Given the description of an element on the screen output the (x, y) to click on. 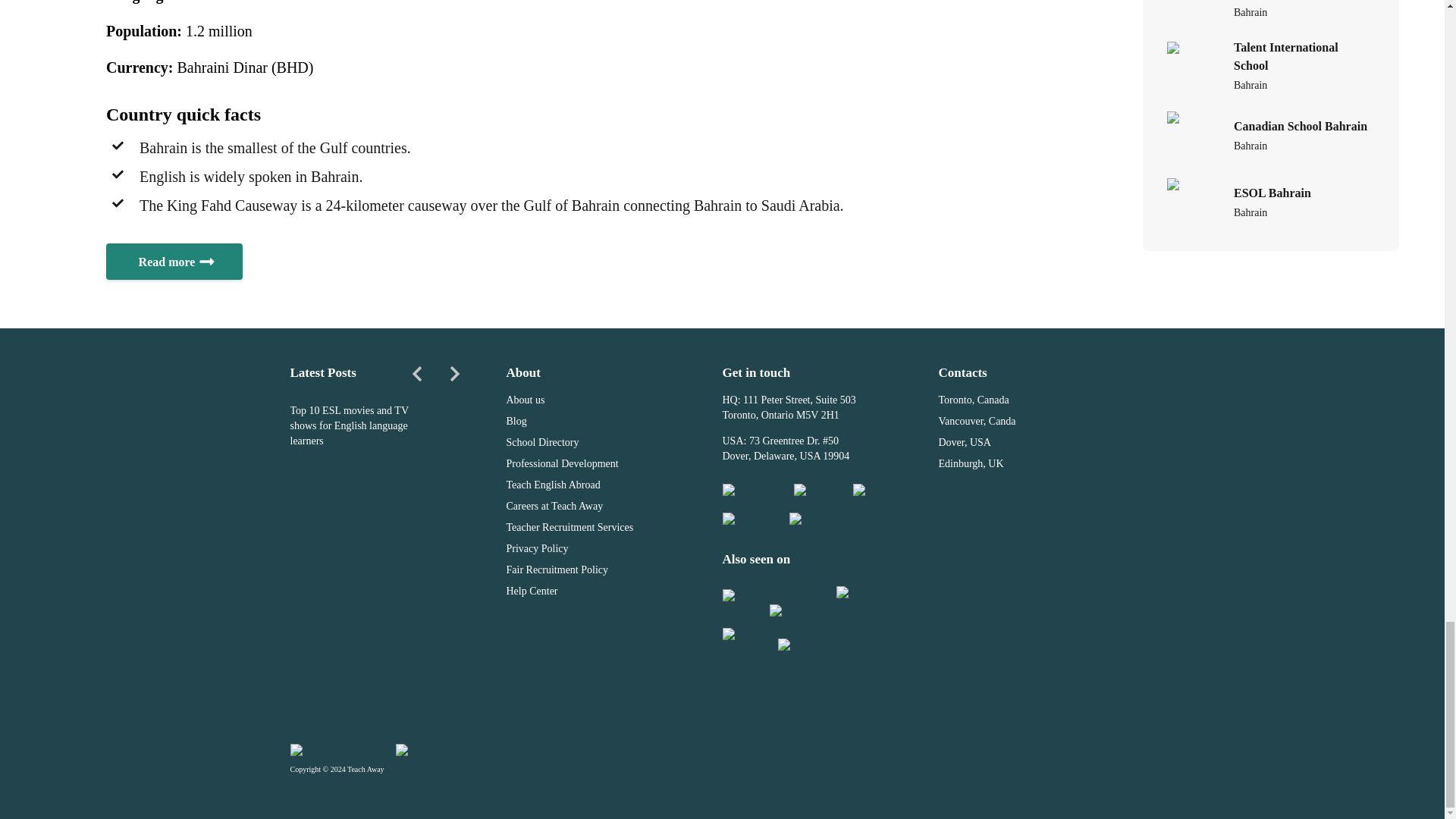
Checkmark Small Icon (117, 203)
Checkmark Small Icon (117, 174)
Checkmark Small Icon (117, 145)
